Given the description of an element on the screen output the (x, y) to click on. 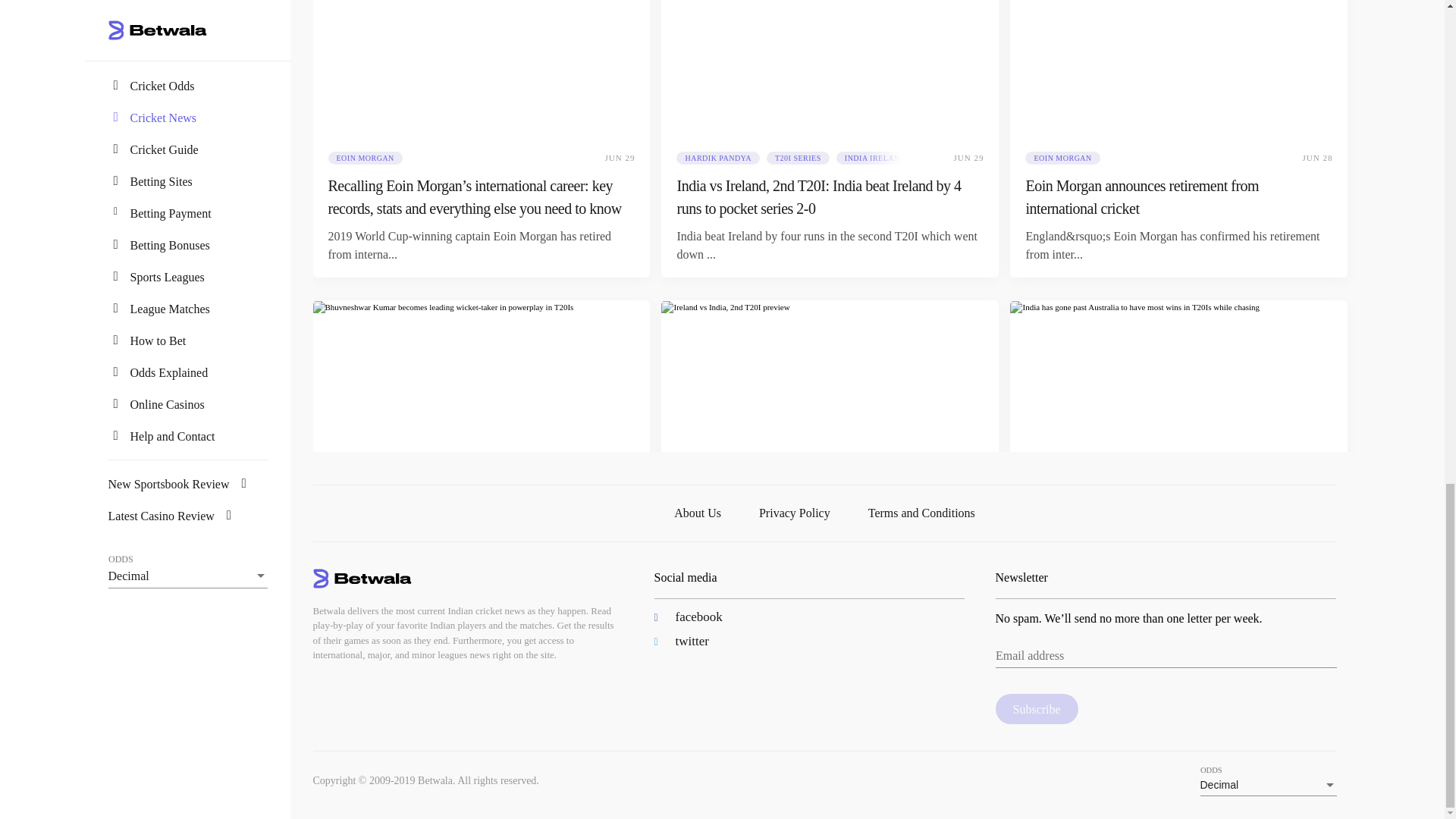
EOIN MORGAN (364, 157)
HARDIK PANDYA (718, 157)
INDIA IRELAND (874, 157)
T20I SERIES (798, 157)
Eoin Morgan announces retirement from international cricket (1178, 197)
EOIN MORGAN (1062, 157)
